Given the description of an element on the screen output the (x, y) to click on. 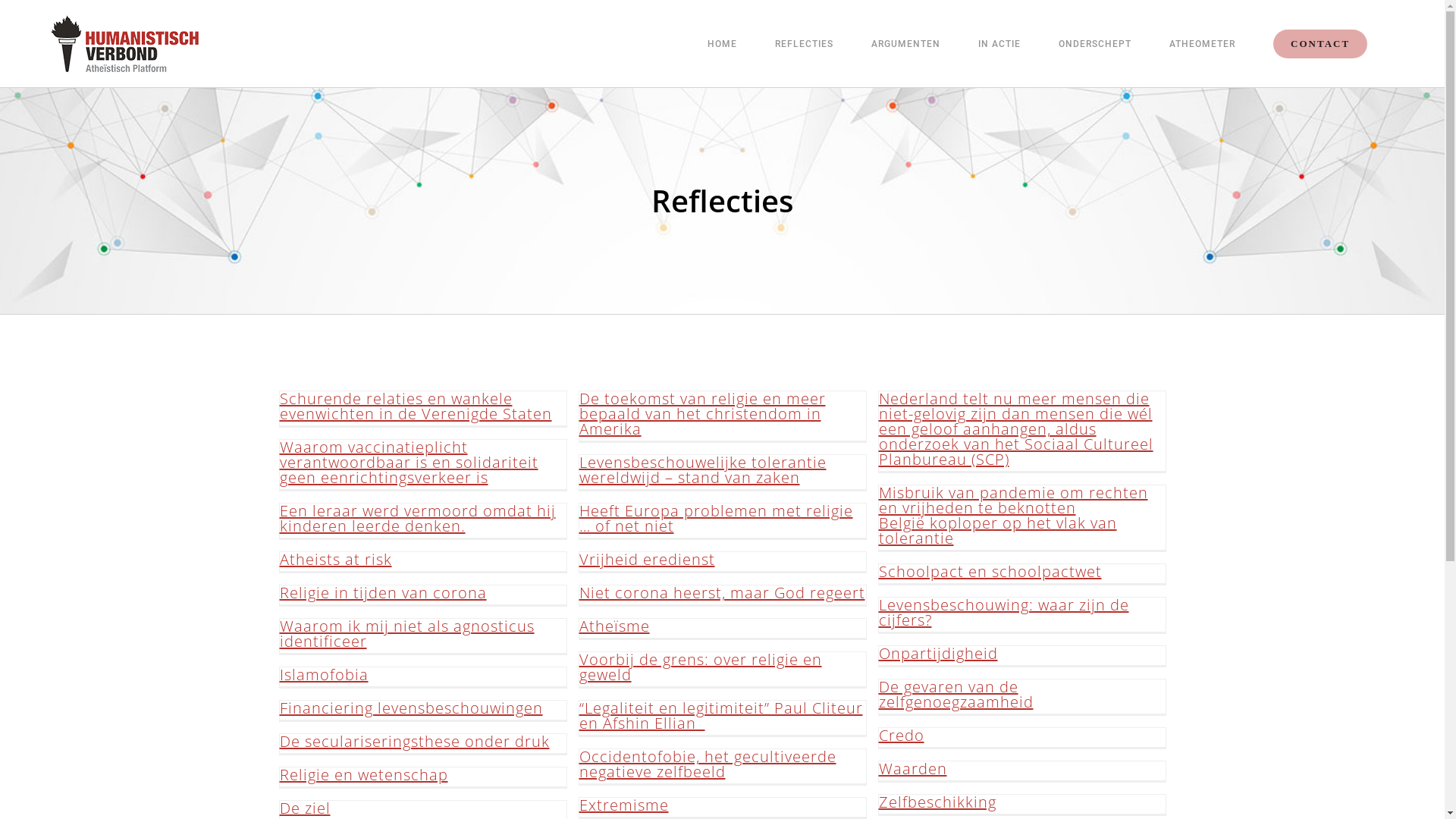
Religie en wetenschap Element type: text (363, 774)
Islamofobia Element type: text (323, 674)
Waarden Element type: text (912, 768)
Vrijheid eredienst Element type: text (647, 559)
ARGUMENTEN Element type: text (905, 43)
CONTACT Element type: text (1319, 43)
Levensbeschouwing: waar zijn de cijfers? Element type: text (1003, 612)
Occidentofobie, het gecultiveerde negatieve zelfbeeld Element type: text (707, 763)
Extremisme Element type: text (623, 804)
Credo Element type: text (900, 734)
Religie in tijden van corona Element type: text (382, 592)
De gevaren van de zelfgenoegzaamheid Element type: text (955, 694)
Schoolpact en schoolpactwet Element type: text (989, 571)
De seculariseringsthese onder druk Element type: text (414, 741)
Onpartijdigheid Element type: text (937, 653)
De ziel Element type: text (304, 807)
IN ACTIE Element type: text (999, 43)
ATHEOMETER Element type: text (1201, 43)
ONDERSCHEPT Element type: text (1094, 43)
Niet corona heerst, maar God regeert Element type: text (722, 592)
Zelfbeschikking Element type: text (936, 801)
REFLECTIES Element type: text (803, 43)
Voorbij de grens: over religie en geweld Element type: text (700, 666)
Waarom ik mij niet als agnosticus identificeer Element type: text (406, 633)
HOME Element type: text (722, 43)
Een leraar werd vermoord omdat hij kinderen leerde denken. Element type: text (417, 518)
Financiering levensbeschouwingen Element type: text (410, 707)
Atheists at risk Element type: text (335, 559)
